Given the description of an element on the screen output the (x, y) to click on. 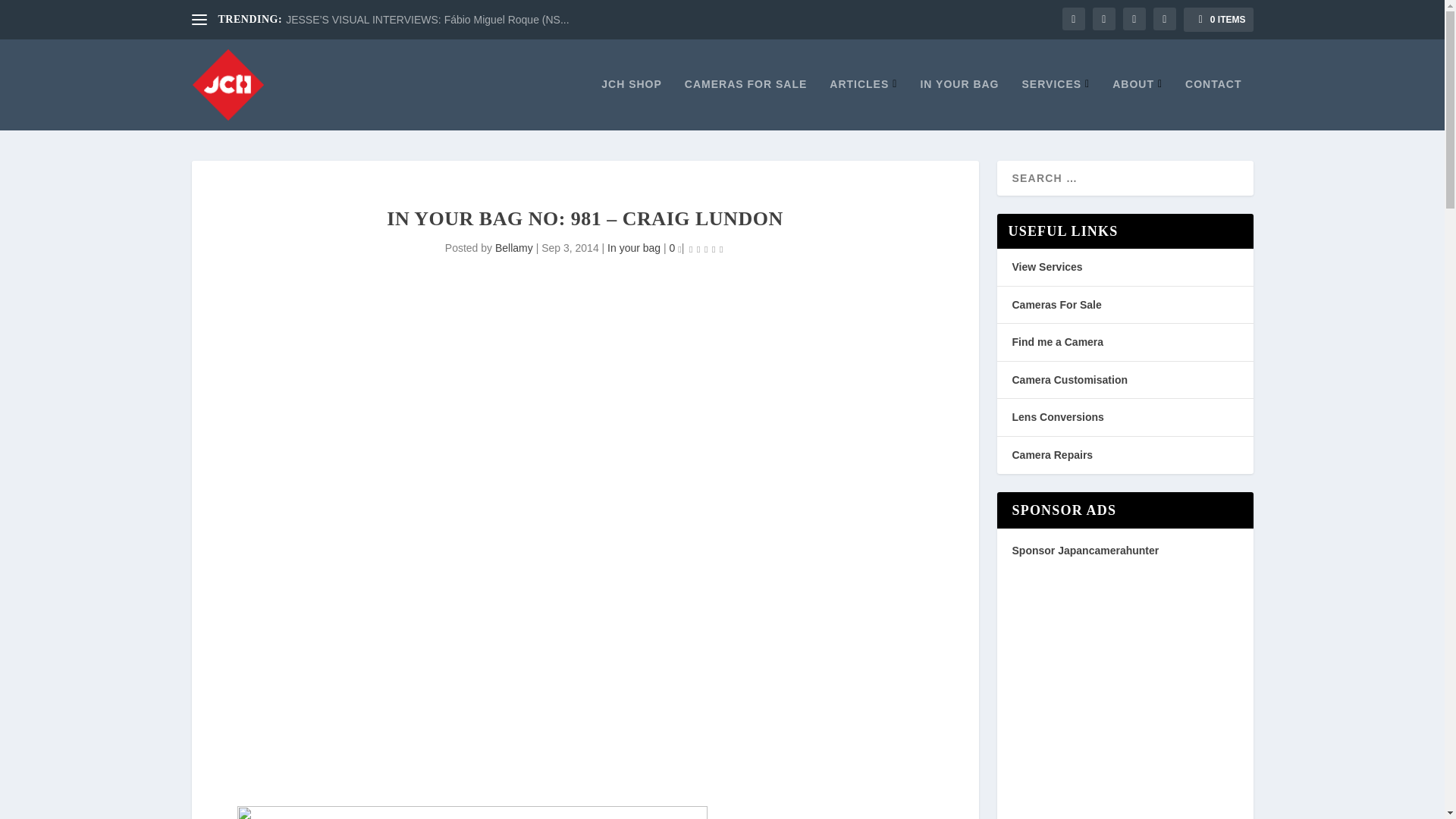
ABout Japan Camera Hunter (1136, 103)
IN YOUR BAG (959, 103)
Rating: 0.00 (706, 248)
ARTICLES (862, 103)
Click here for more (470, 812)
ABOUT (1136, 103)
JCH SHOP (631, 103)
CAMERAS FOR SALE (745, 103)
0 ITEMS (1218, 19)
In Your Bag (959, 103)
